Given the description of an element on the screen output the (x, y) to click on. 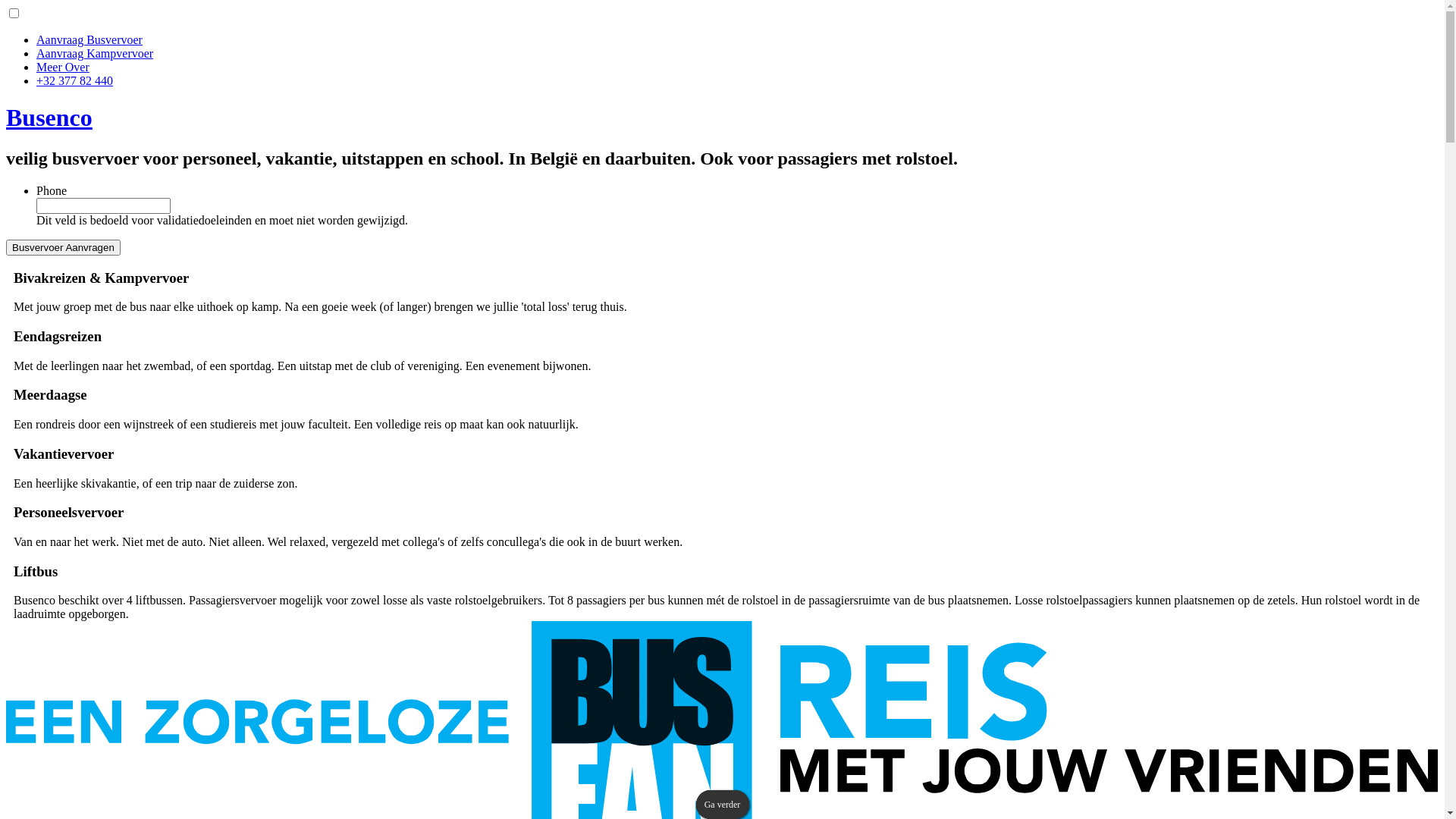
Busenco Element type: text (49, 117)
Meer Over Element type: text (62, 66)
Aanvraag Kampvervoer Element type: text (94, 53)
Busvervoer Aanvragen Element type: text (63, 247)
Aanvraag Busvervoer Element type: text (89, 39)
+32 377 82 440 Element type: text (74, 80)
